Given the description of an element on the screen output the (x, y) to click on. 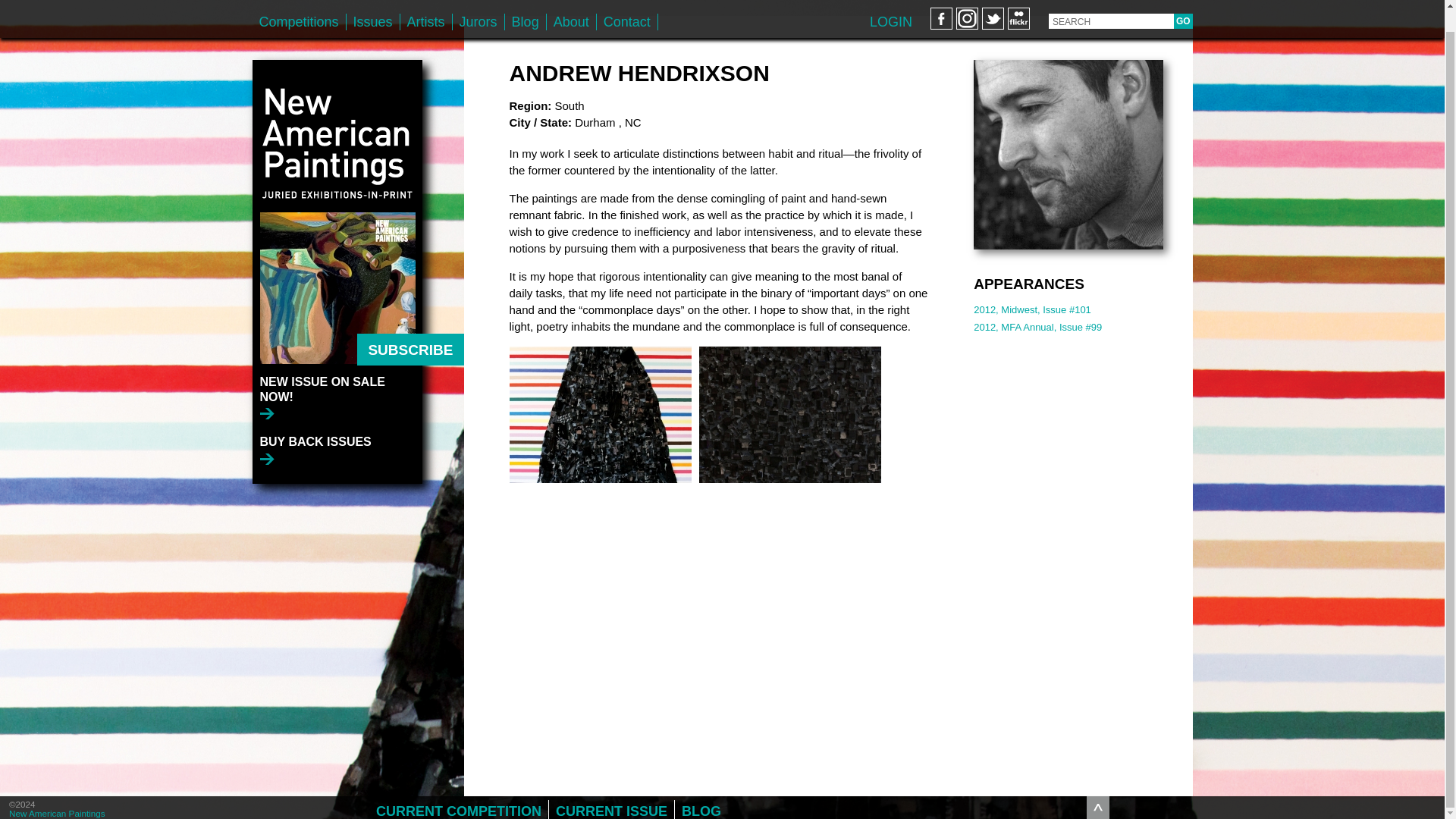
New American Paintings (336, 113)
About (571, 4)
Contact (627, 4)
toggle (1097, 784)
Jurors (477, 4)
Enter the terms you wish to search for. (1110, 3)
Contact (627, 4)
Blog (525, 4)
New issue on sale now! (340, 374)
Issues (372, 4)
Buy back issues (315, 427)
BUY BACK ISSUES (315, 427)
Jurors (477, 4)
Artists (425, 4)
Blog (525, 4)
